Given the description of an element on the screen output the (x, y) to click on. 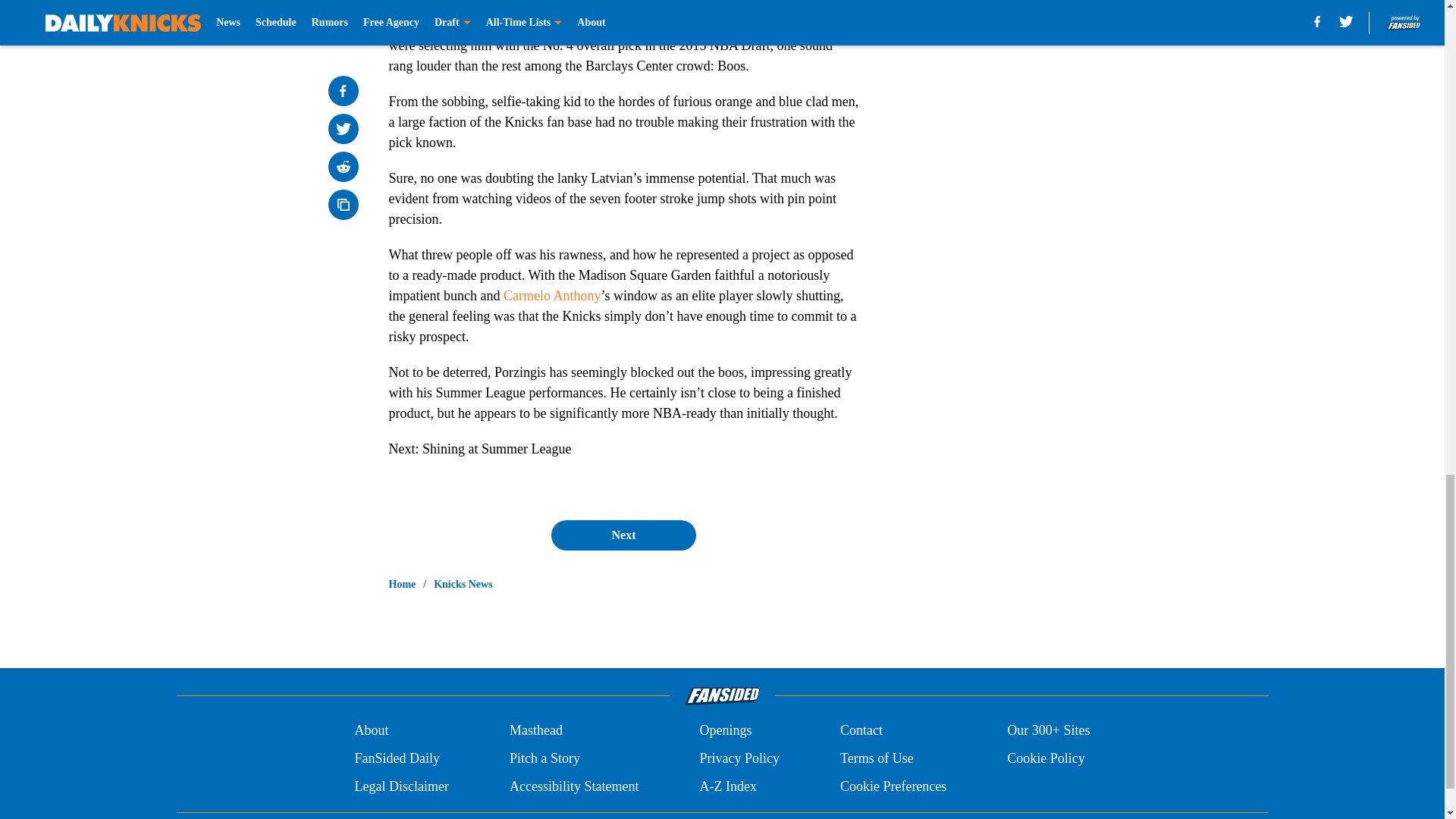
Masthead (535, 730)
Home (401, 584)
Knicks News (462, 584)
Next (622, 535)
Carmelo Anthony (552, 295)
About (370, 730)
Kristaps Porzingis (475, 24)
Contact (861, 730)
Openings (724, 730)
